Given the description of an element on the screen output the (x, y) to click on. 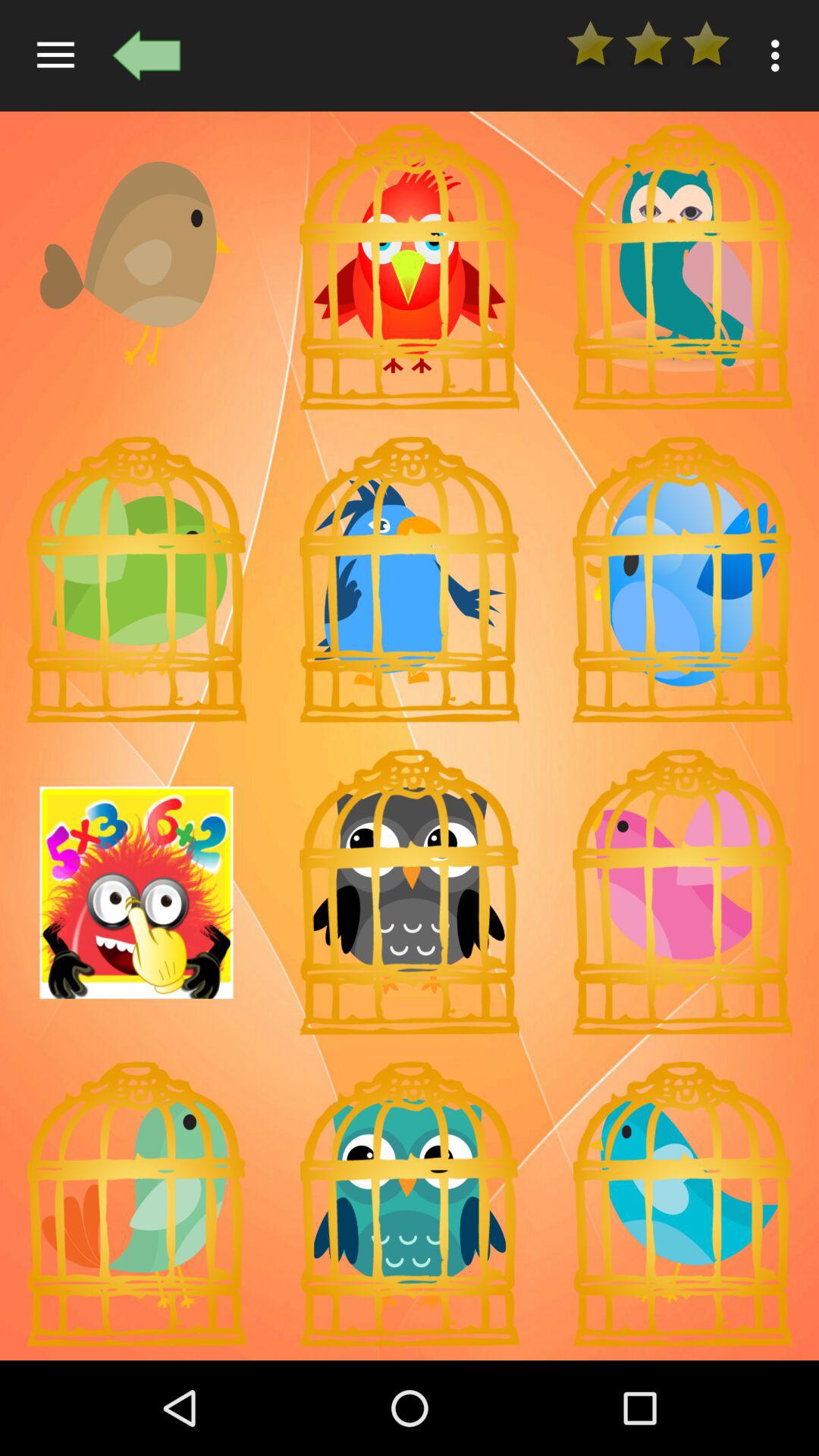
click more the images (136, 892)
